Given the description of an element on the screen output the (x, y) to click on. 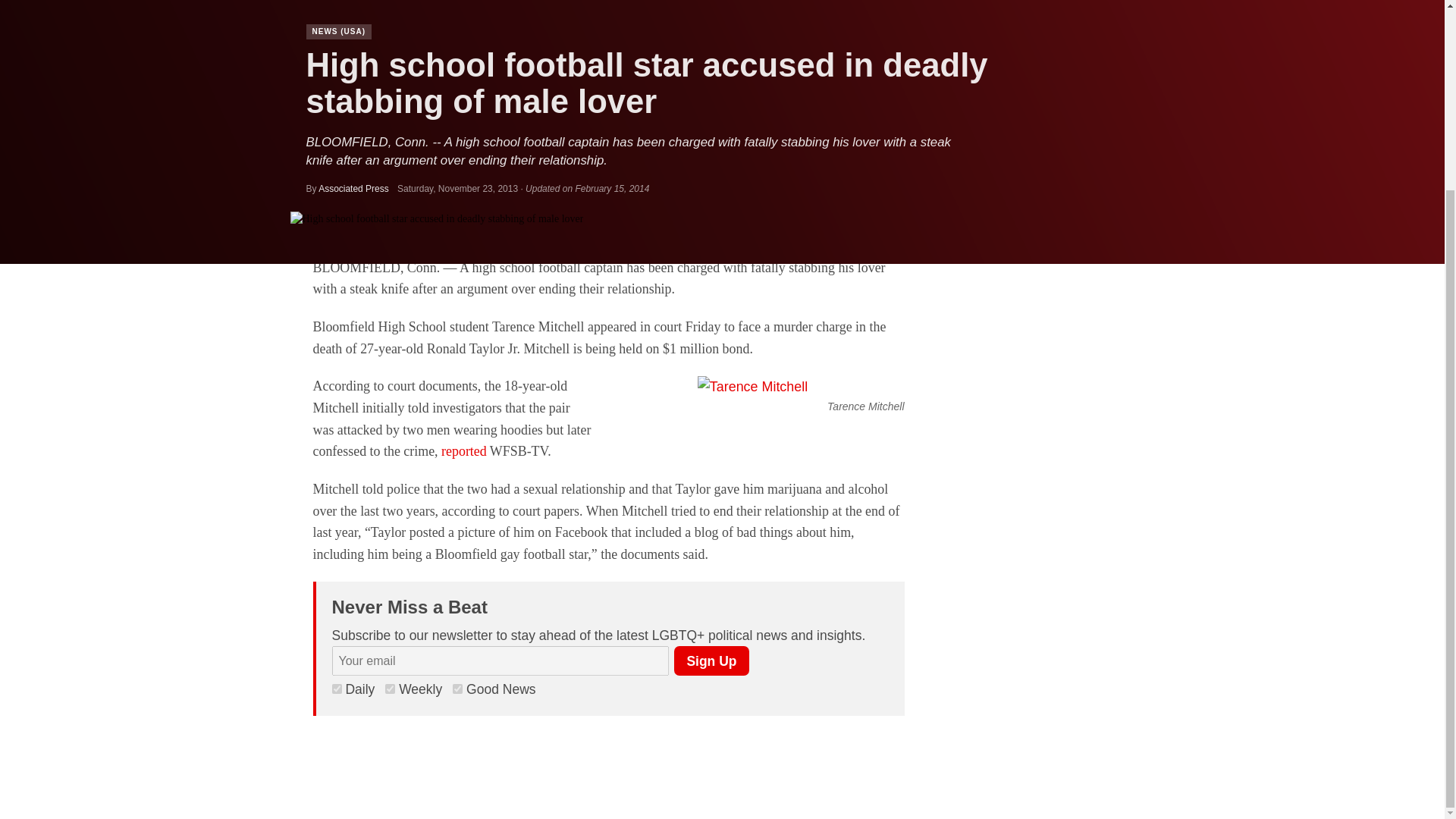
1920885 (336, 688)
1920884 (389, 688)
Saturday, November 23, 2013 pm30 18:00:57 (457, 188)
Sign Up (711, 660)
reported (463, 450)
1920883 (457, 688)
Posts by Associated Press (353, 188)
Associated Press (353, 188)
